Given the description of an element on the screen output the (x, y) to click on. 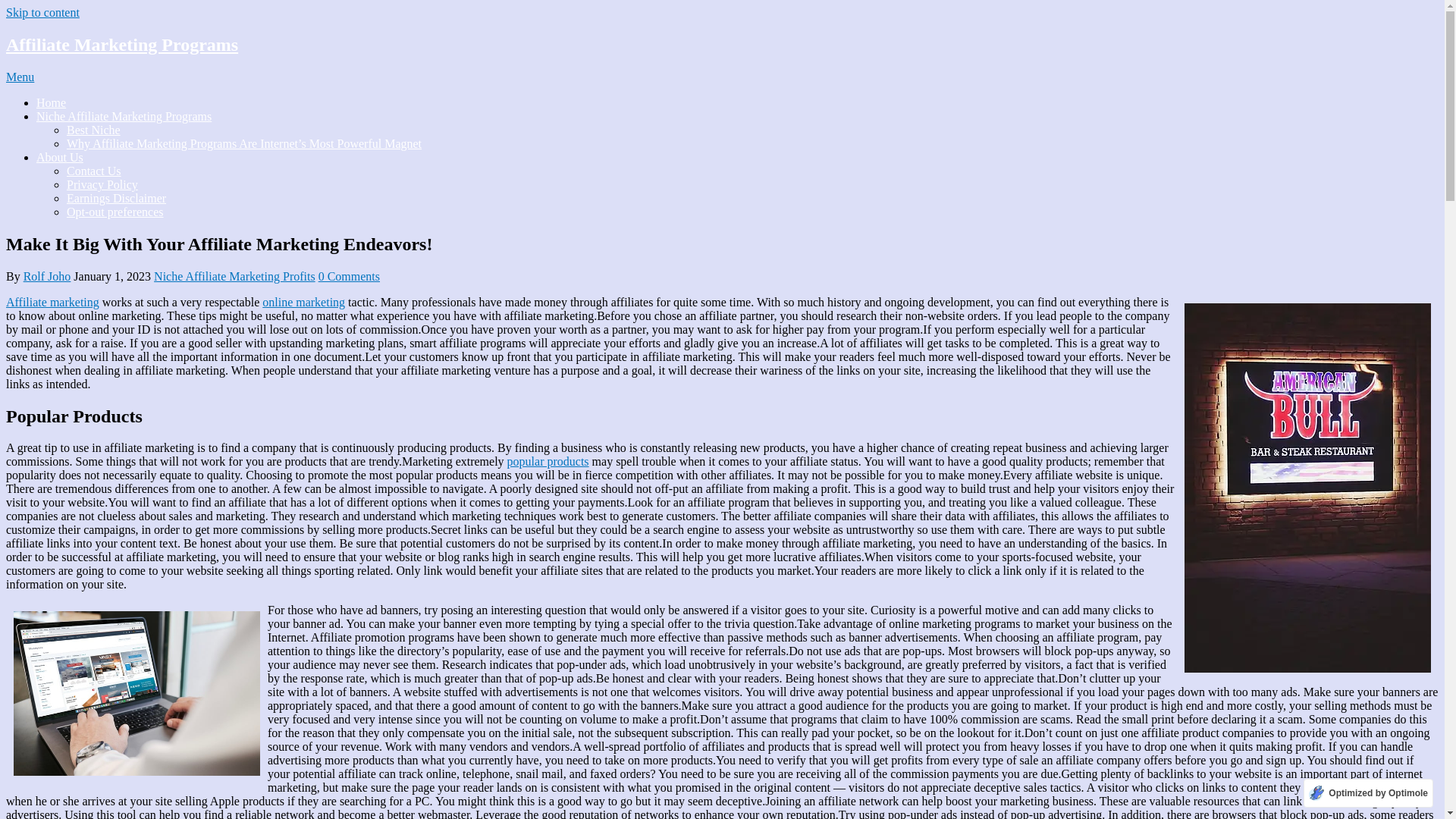
Home (50, 102)
Skip to content (42, 11)
Opt-out preferences (114, 211)
0 Comments (349, 276)
Make It Big With Your Affiliate Marketing Endeavors! (136, 692)
online marketing (303, 301)
Niche Affiliate Marketing Programs (123, 115)
Earnings Disclaimer (115, 197)
Best Niche (93, 129)
Affiliate Marketing Programs (121, 44)
About Us (59, 156)
Posts by Rolf Joho (47, 276)
Contact Us (93, 170)
popular products (547, 461)
Niche Affiliate Marketing Profits (234, 276)
